Given the description of an element on the screen output the (x, y) to click on. 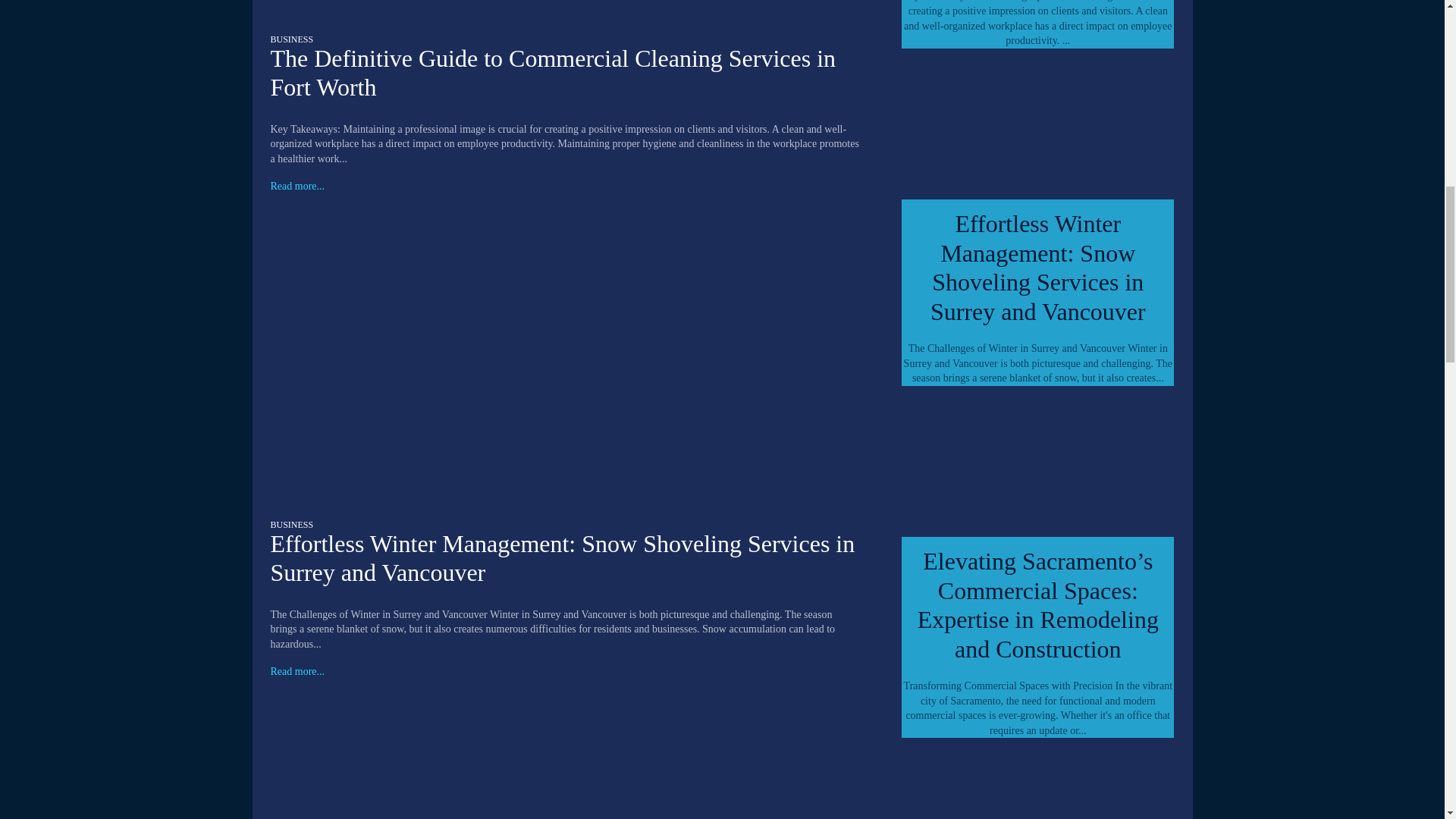
Read more... (296, 671)
Read more... (296, 185)
